Given the description of an element on the screen output the (x, y) to click on. 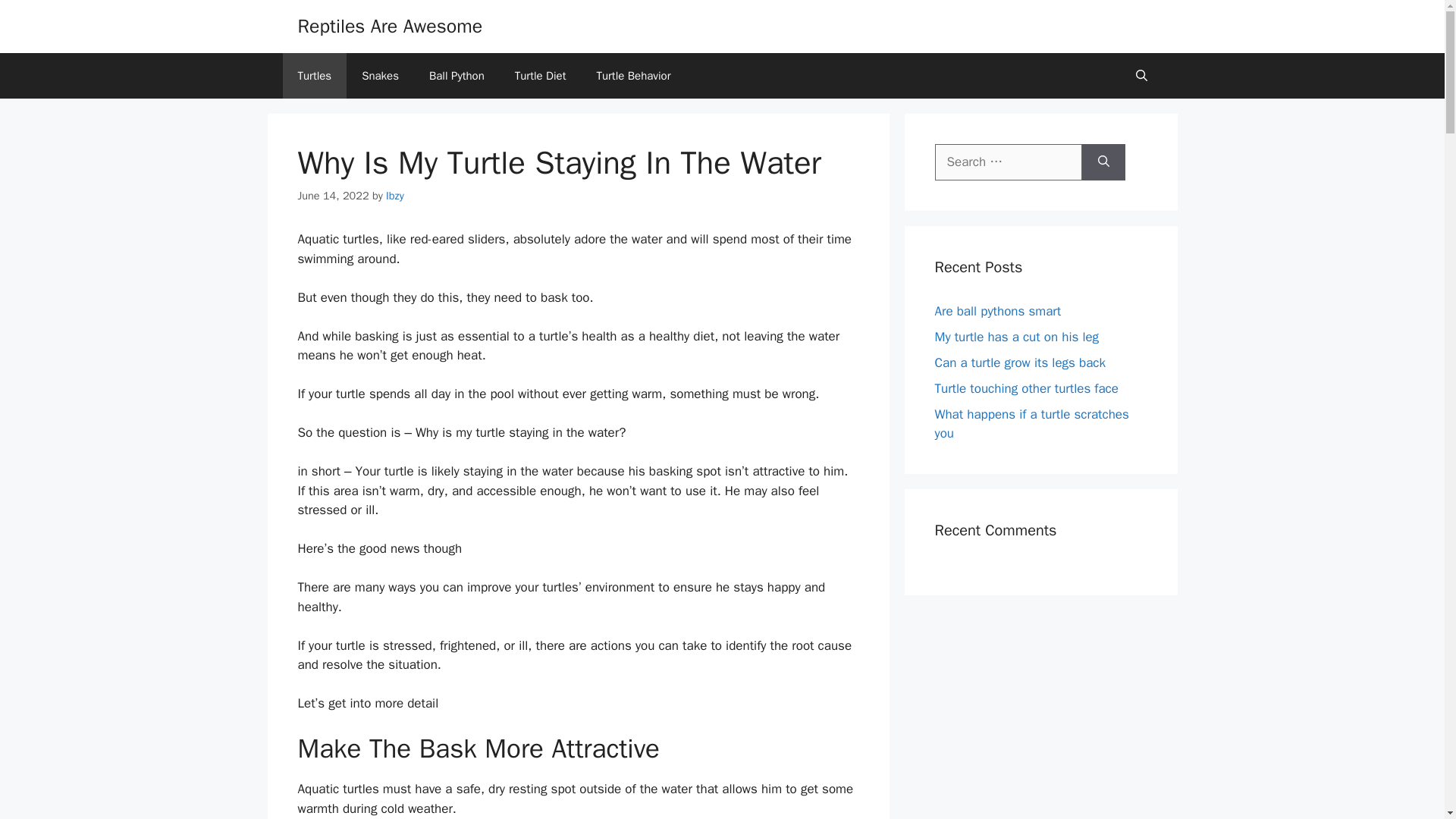
Turtle Behavior (632, 75)
Ibzy (394, 195)
Search for: (1007, 162)
Reptiles Are Awesome (389, 25)
Are ball pythons smart (997, 311)
Ball Python (456, 75)
View all posts by Ibzy (394, 195)
Snakes (379, 75)
My turtle has a cut on his leg (1016, 336)
Can a turtle grow its legs back (1019, 362)
Turtles (314, 75)
Turtle touching other turtles face (1026, 388)
Turtle Diet (539, 75)
What happens if a turtle scratches you (1031, 424)
